Given the description of an element on the screen output the (x, y) to click on. 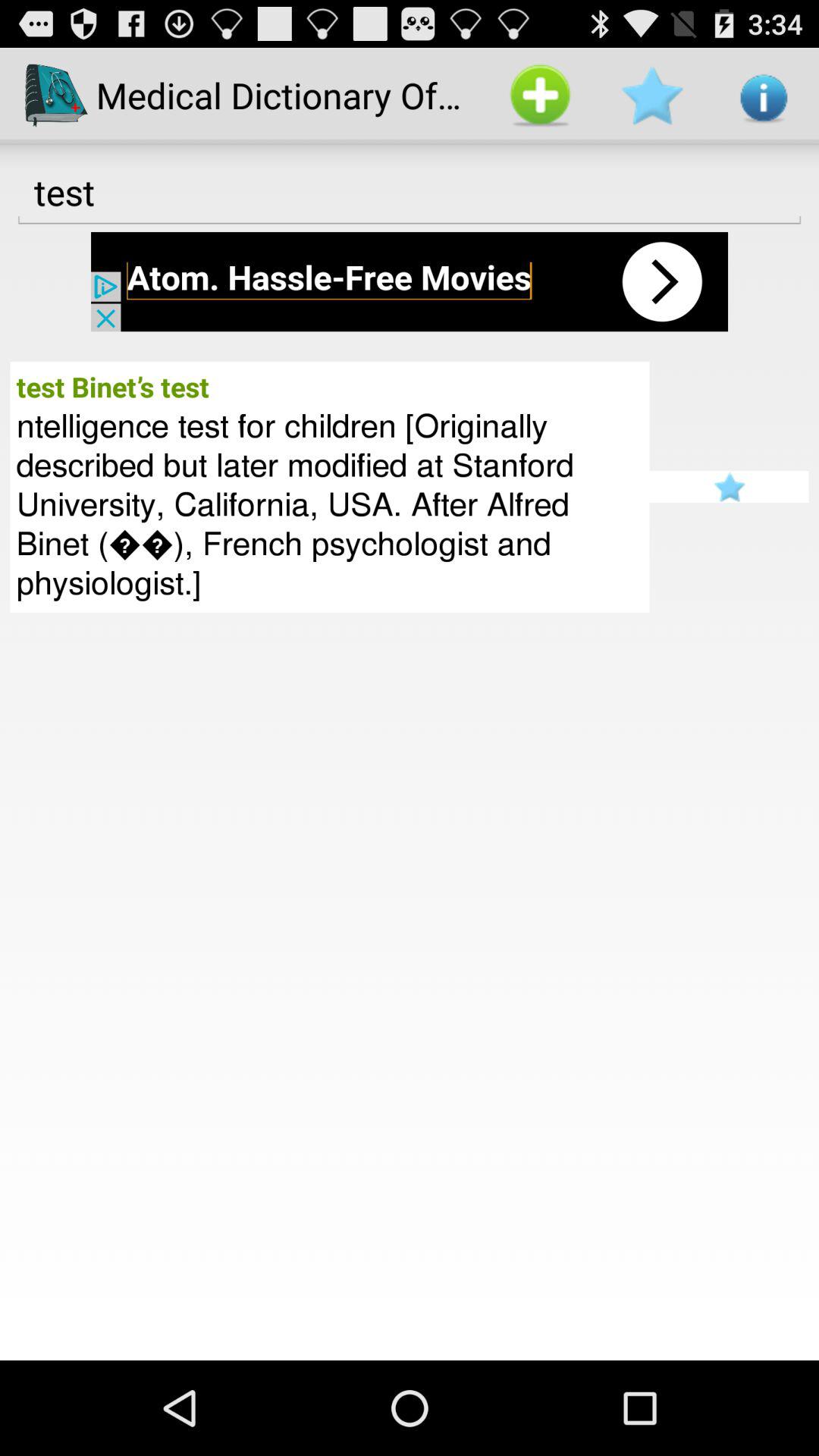
view advertisements (409, 281)
